Given the description of an element on the screen output the (x, y) to click on. 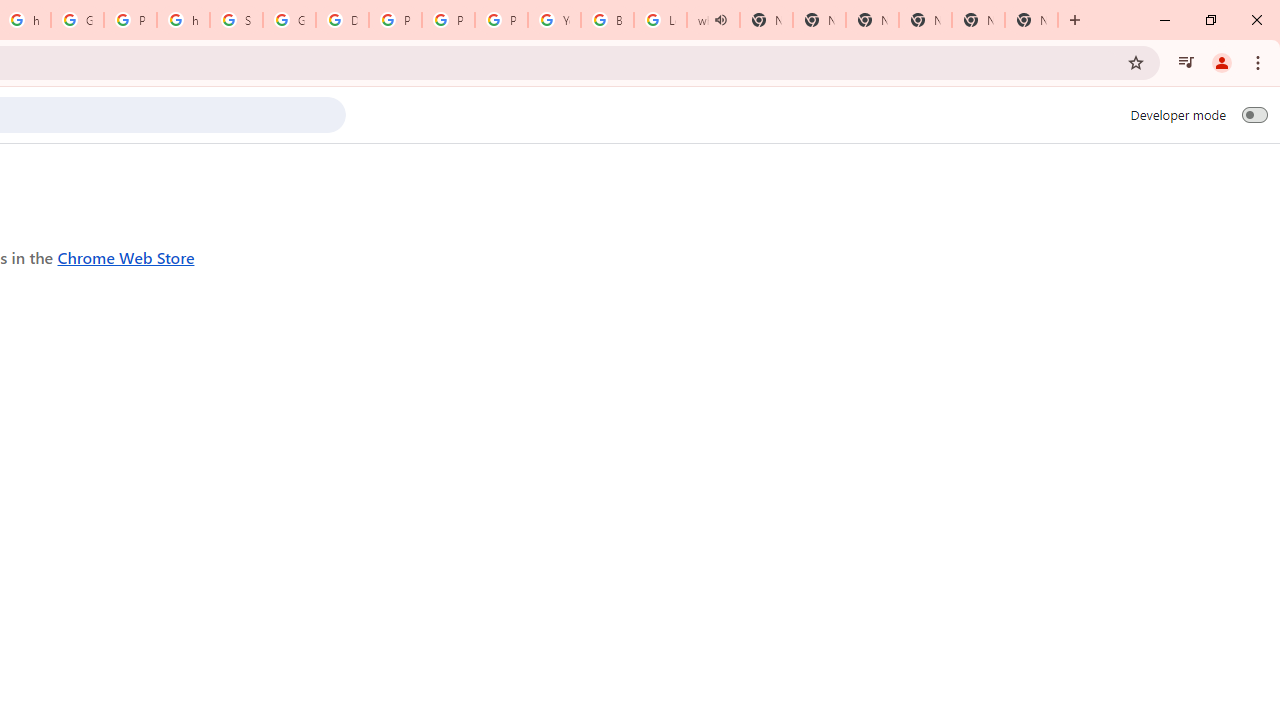
Privacy Help Center - Policies Help (448, 20)
https://scholar.google.com/ (183, 20)
Sign in - Google Accounts (235, 20)
Privacy Help Center - Policies Help (395, 20)
Mute tab (720, 20)
Chrome Web Store (125, 256)
New Tab (925, 20)
